Given the description of an element on the screen output the (x, y) to click on. 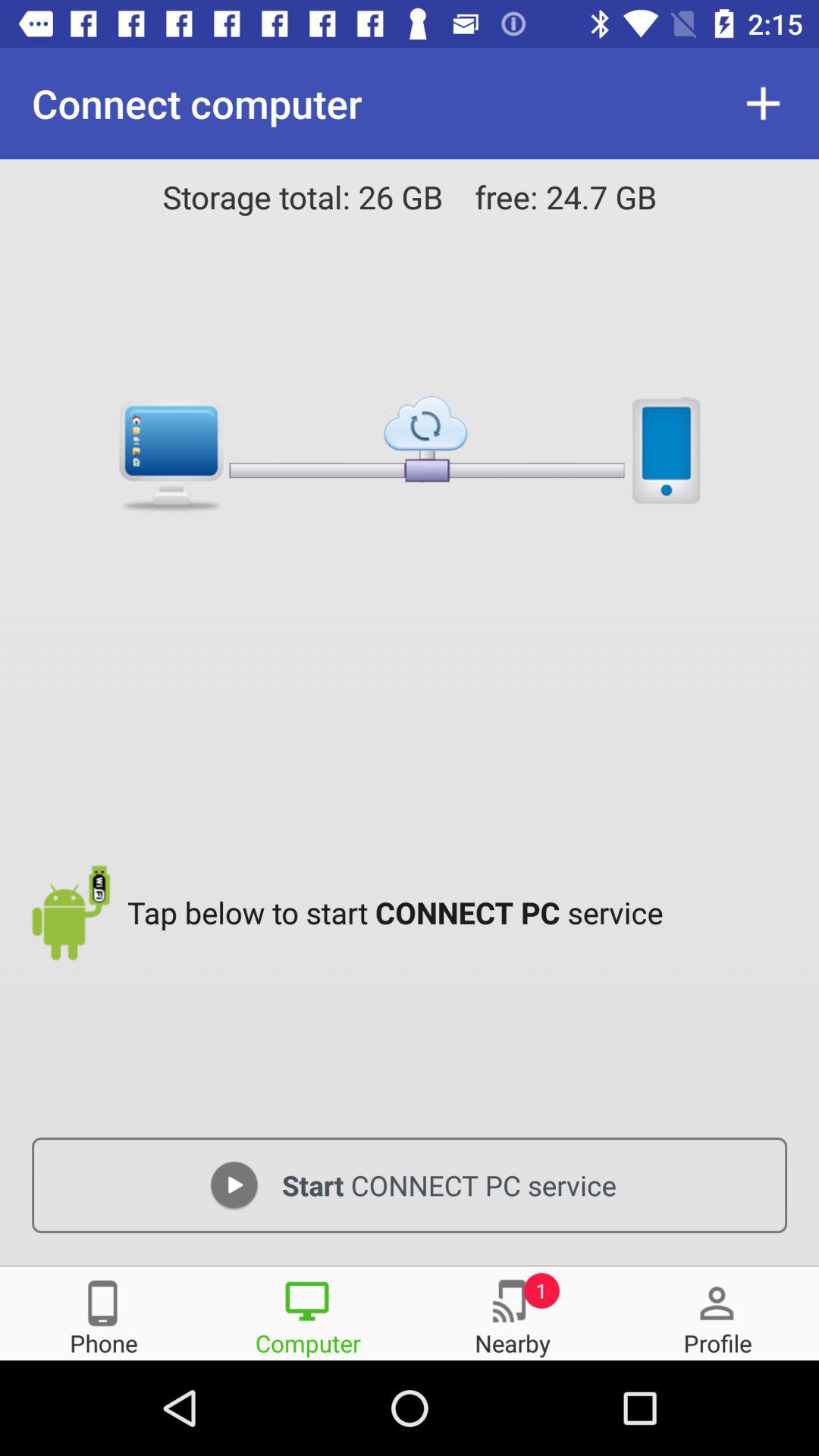
turn off the icon above start connect pc icon (461, 912)
